Given the description of an element on the screen output the (x, y) to click on. 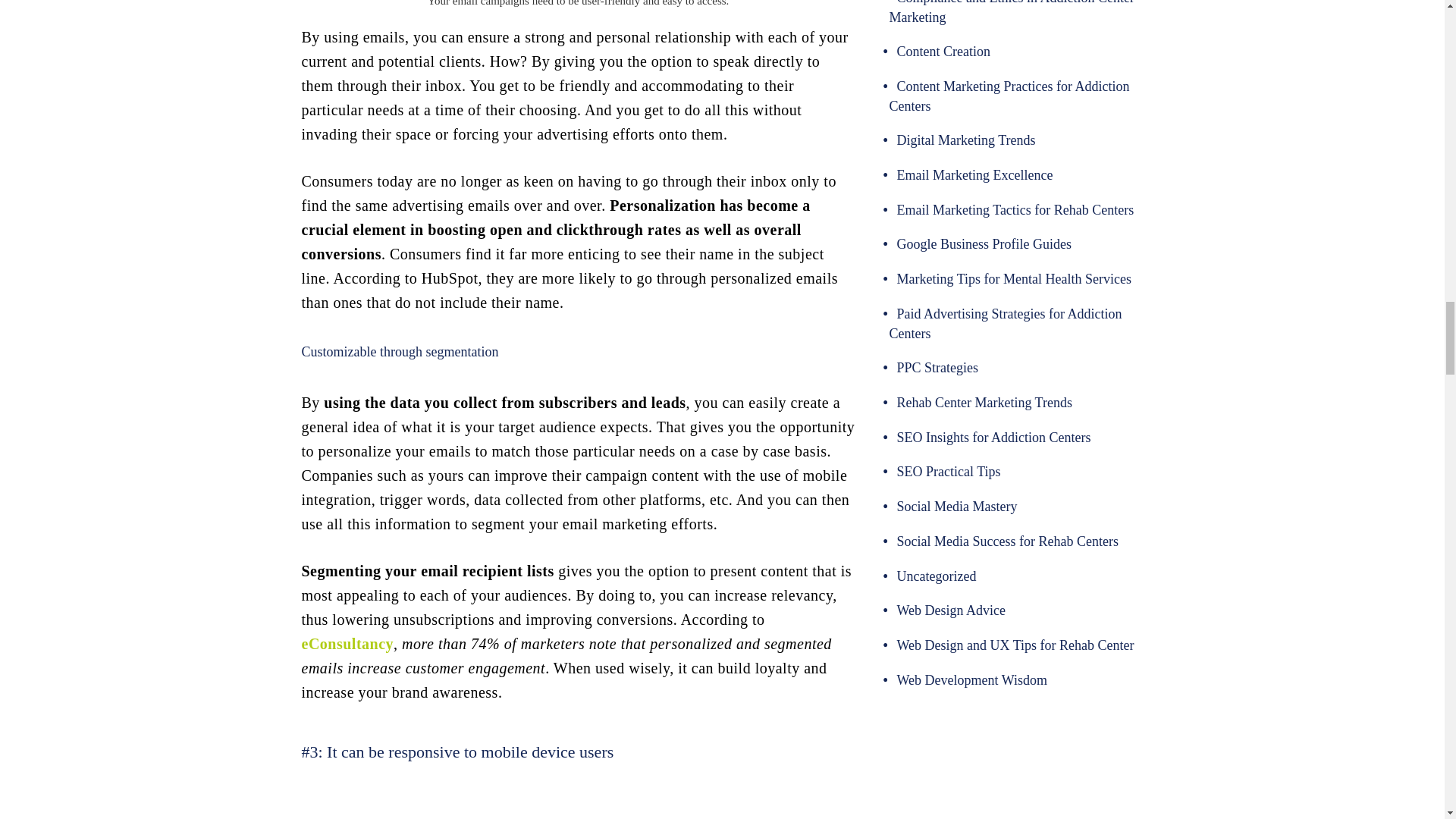
eConsultancy (347, 643)
